Given the description of an element on the screen output the (x, y) to click on. 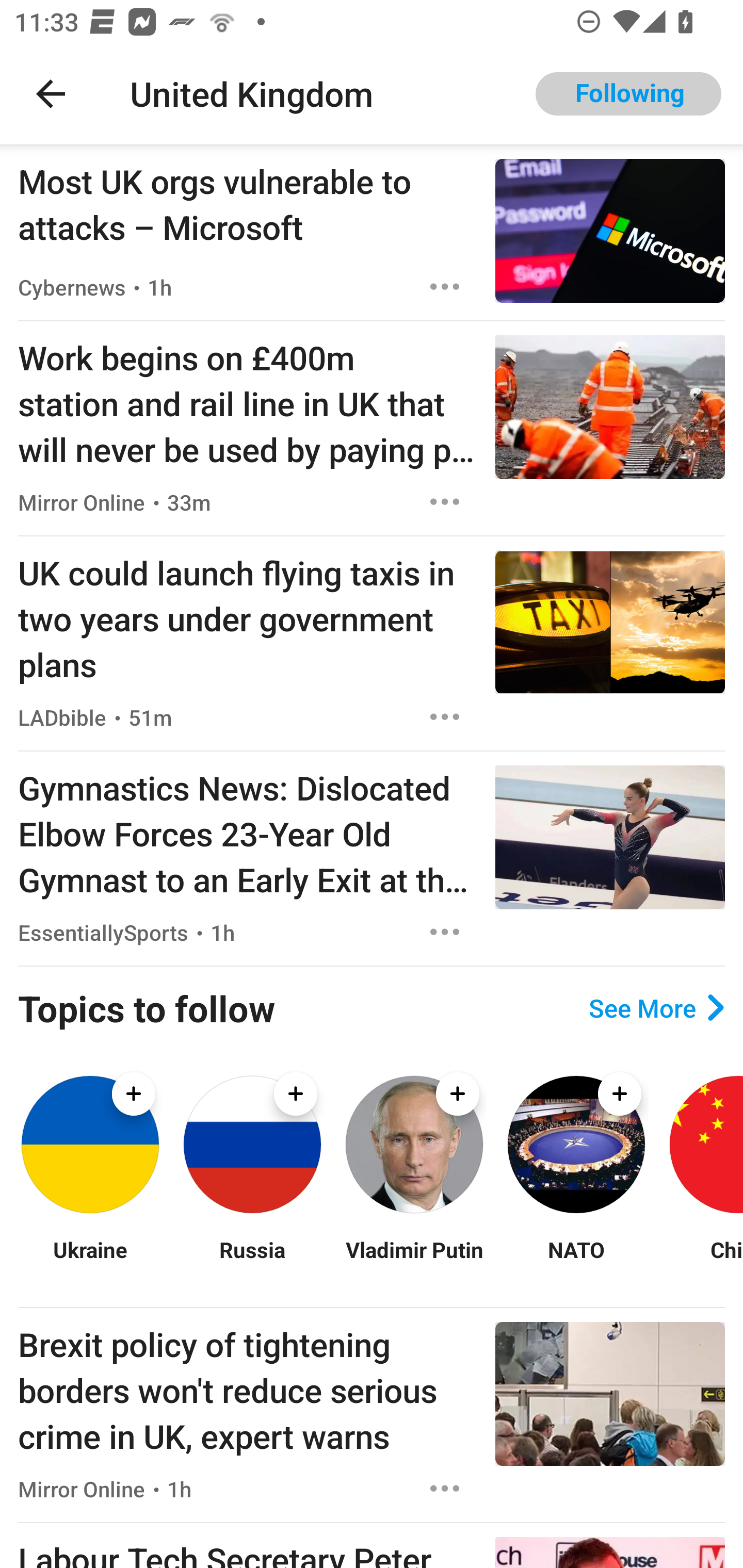
Navigate up (50, 93)
Following (628, 94)
Options (444, 286)
Options (444, 501)
Options (444, 716)
Options (444, 932)
See More (656, 1007)
Ukraine (89, 1261)
Russia (251, 1261)
Vladimir Putin (413, 1261)
NATO (575, 1261)
Options (444, 1488)
